Given the description of an element on the screen output the (x, y) to click on. 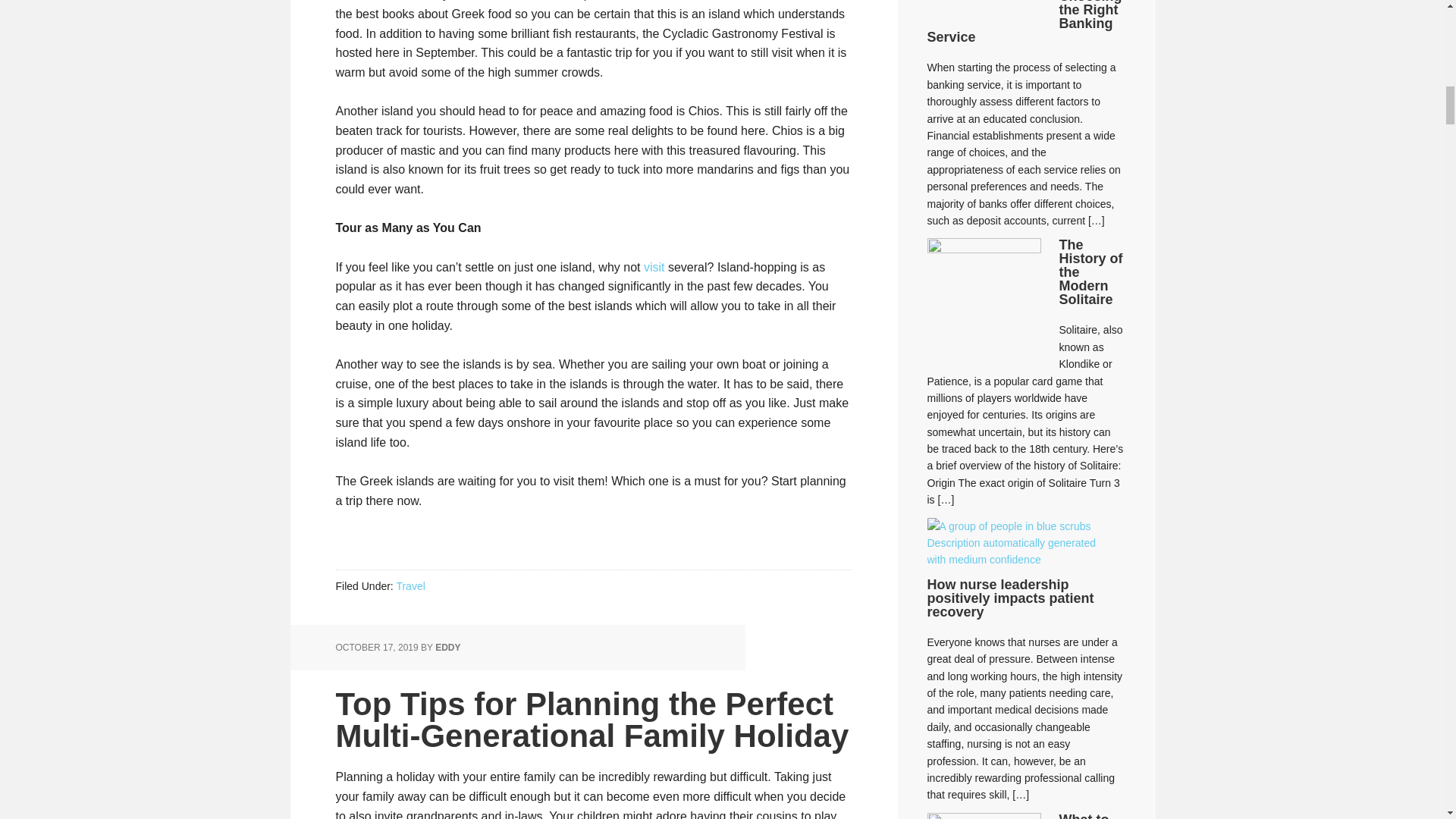
visit (654, 267)
EDDY (447, 647)
Travel (410, 585)
